Given the description of an element on the screen output the (x, y) to click on. 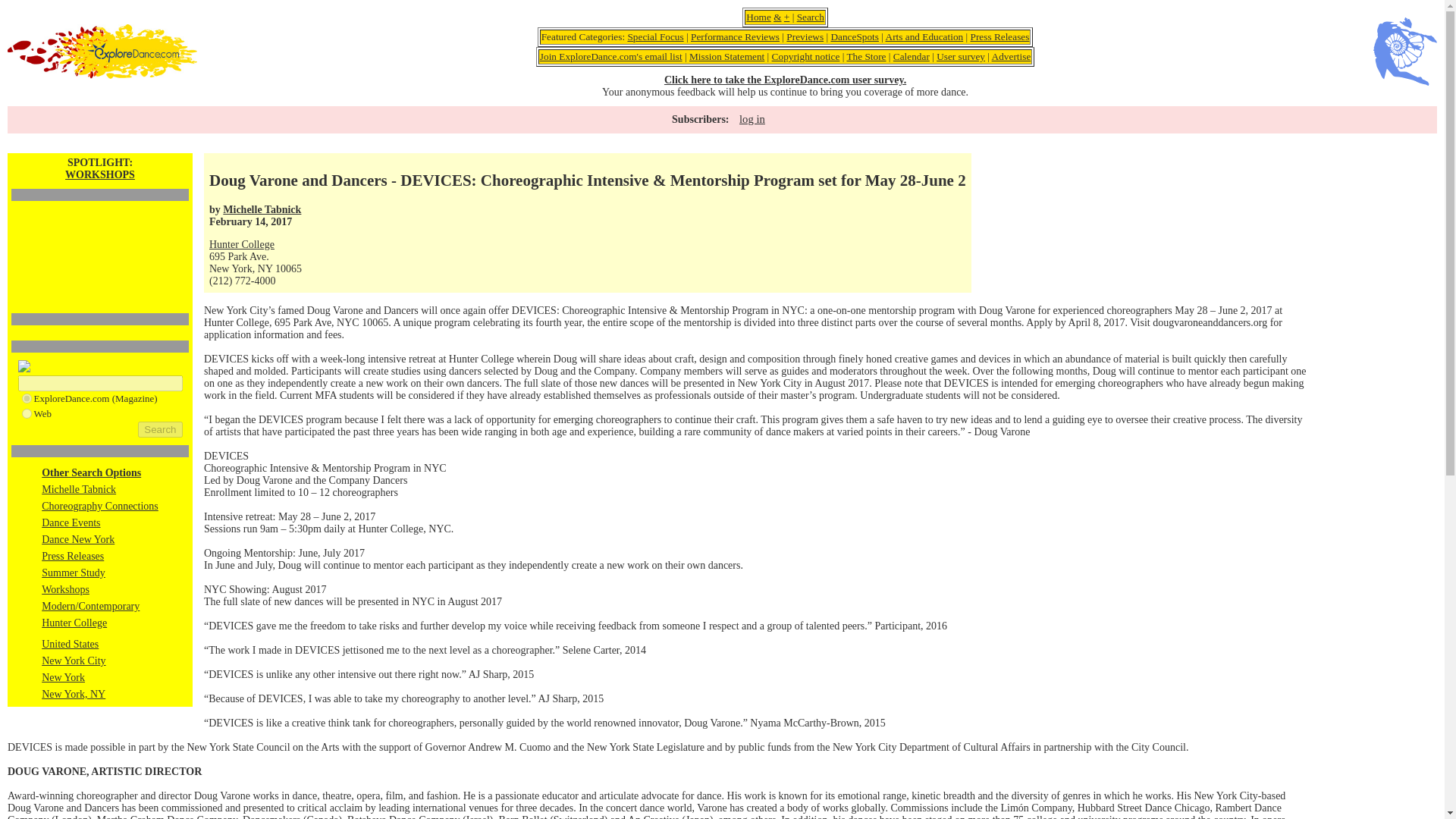
WORKSHOPS (100, 174)
New York City (73, 660)
Visit the ExploreDance store (865, 56)
Press Releases (1000, 36)
Join ExploreDance.com's email list (611, 56)
Previews (805, 36)
Arts and Education (924, 36)
DanceSpots (854, 36)
Read our mission statement (726, 56)
Take our user survey (960, 56)
See the ExploreDance calendar (911, 56)
See our copyright information (805, 56)
The Store (865, 56)
Take our user survey (784, 79)
Search (810, 16)
